Given the description of an element on the screen output the (x, y) to click on. 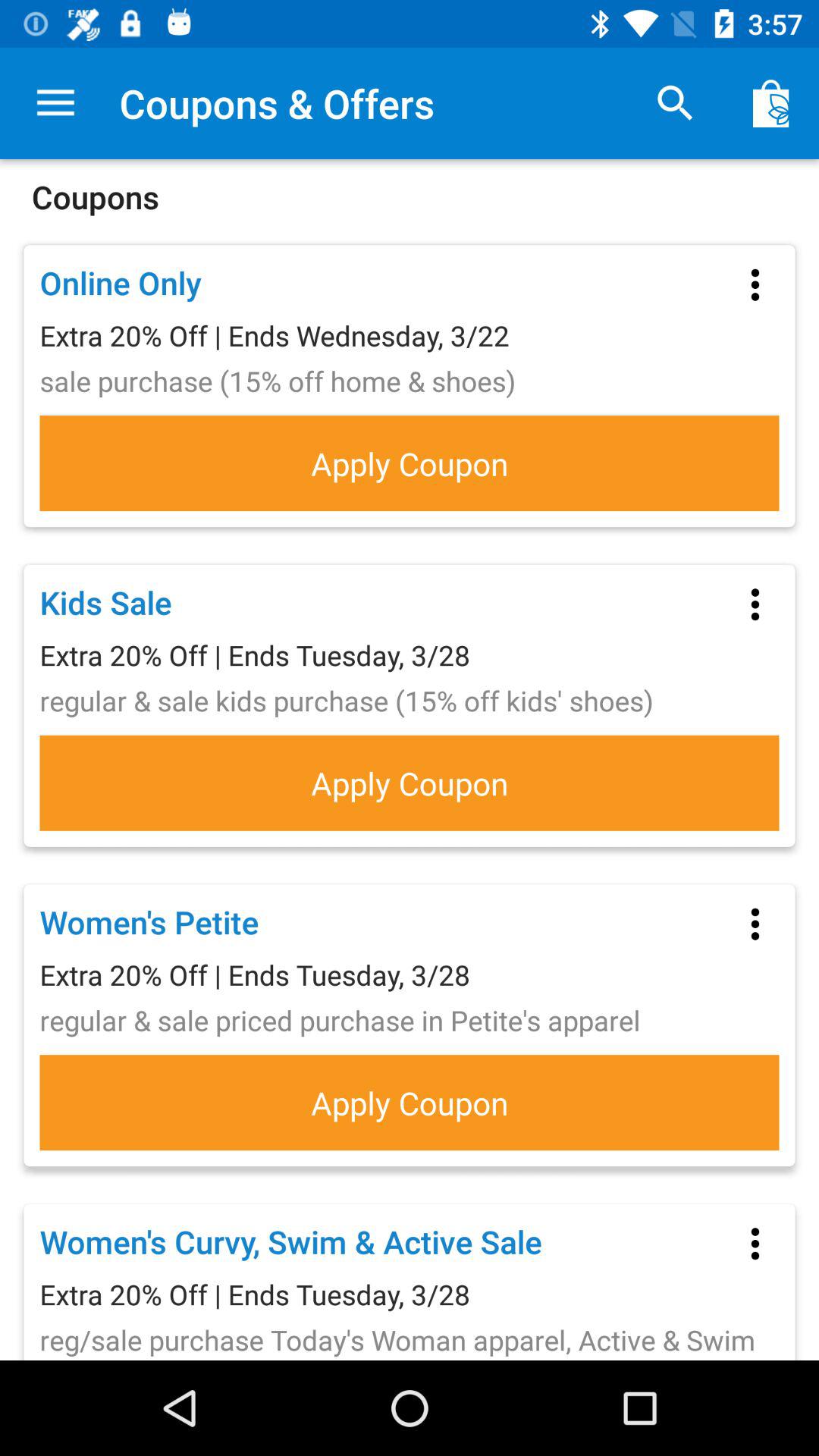
choose the icon to the right of the coupons & offers icon (675, 103)
